Given the description of an element on the screen output the (x, y) to click on. 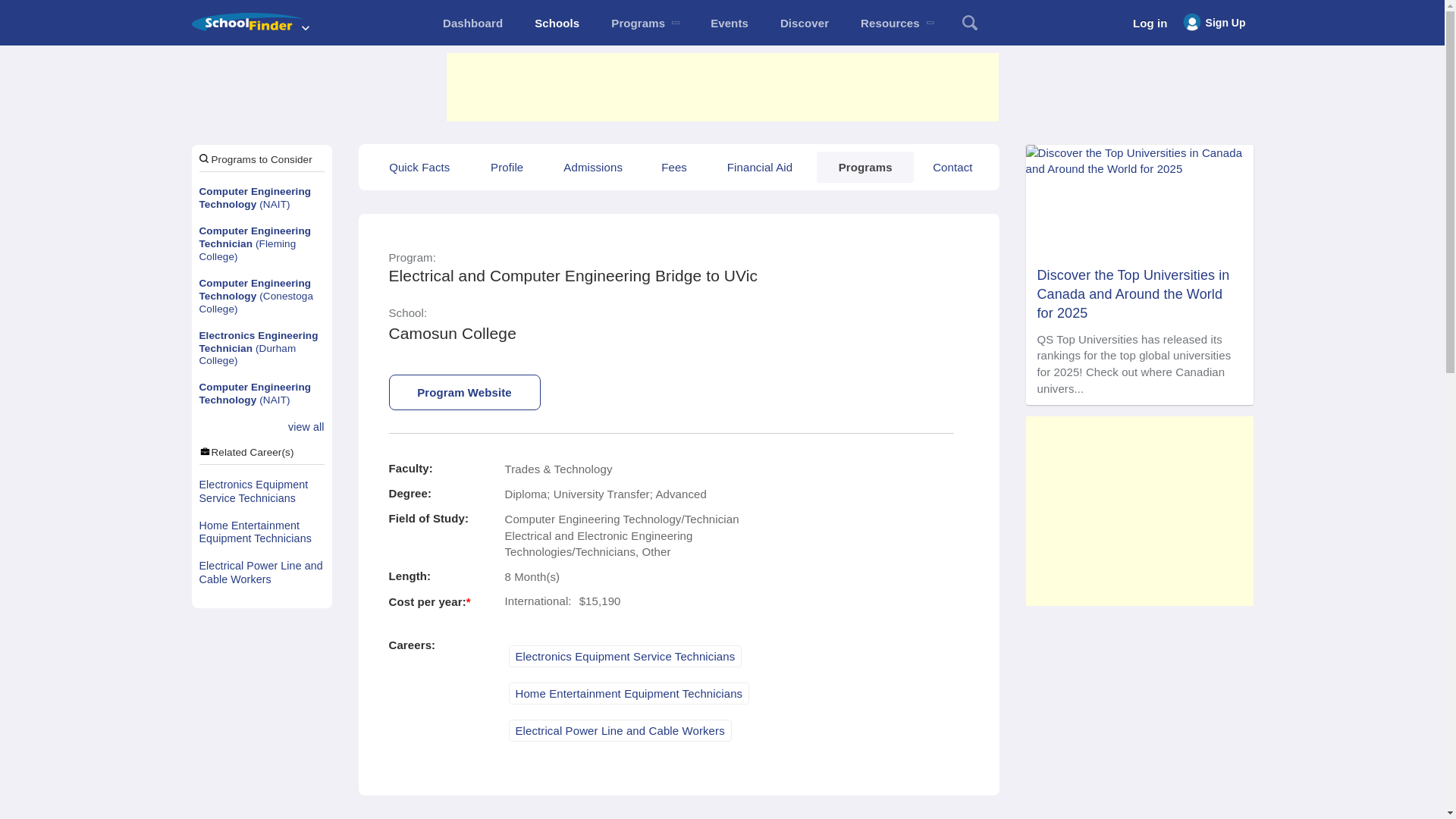
Schools (556, 22)
mySTUFF (472, 22)
Advertisement (1138, 511)
Fees (674, 166)
Events (729, 22)
Schools (556, 22)
Advertisement (721, 87)
Programs (644, 22)
Profile (506, 166)
view all (306, 427)
